Given the description of an element on the screen output the (x, y) to click on. 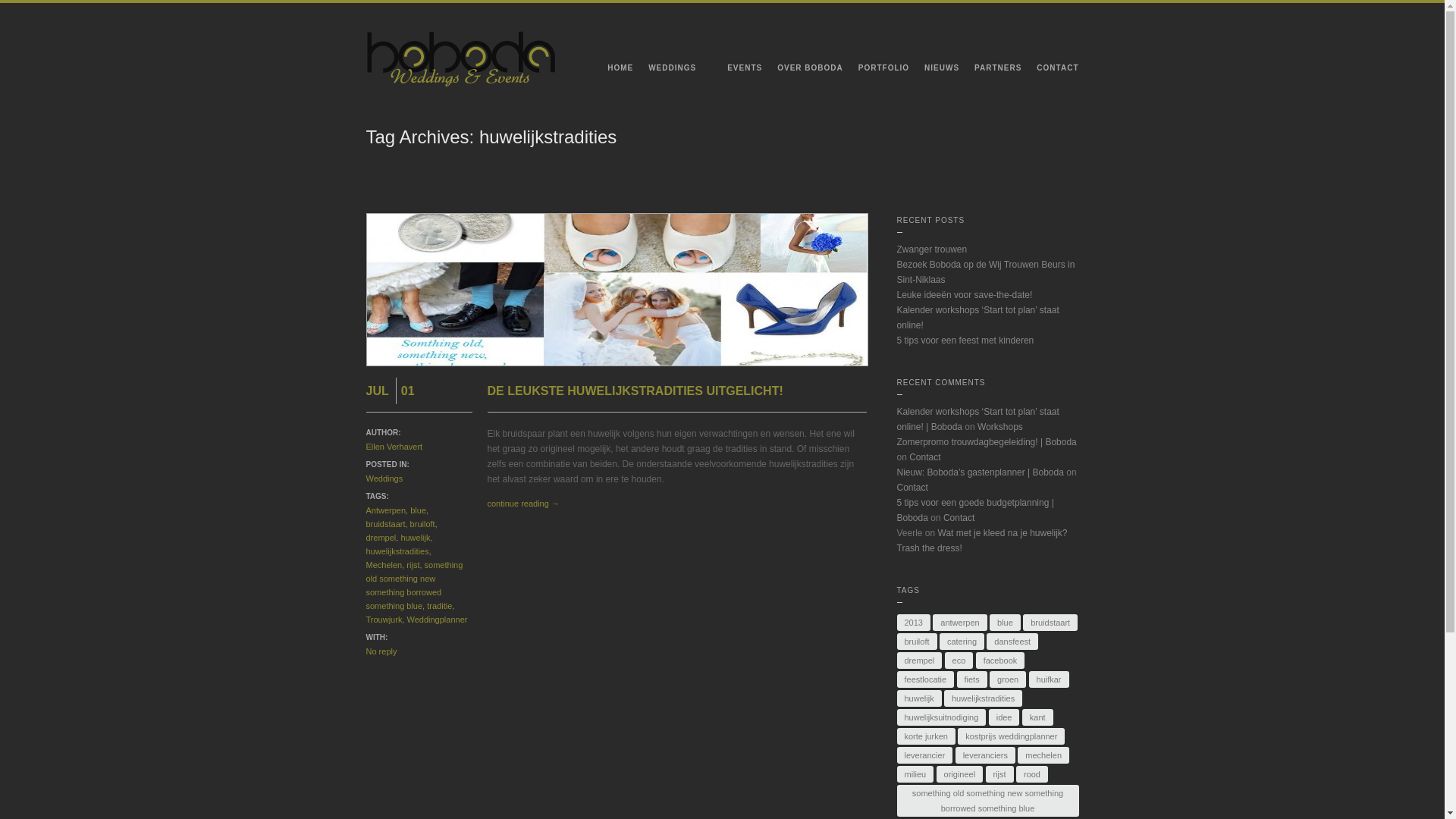
traditie Element type: text (438, 605)
kant Element type: text (1037, 717)
milieu Element type: text (914, 773)
WEDDINGS Element type: text (672, 70)
Zomerpromo trouwdagbegeleiding! | Boboda Element type: text (986, 441)
Contact Element type: text (958, 517)
HOME Element type: text (612, 70)
eco Element type: text (958, 660)
Bezoek Boboda op de Wij Trouwen Beurs in Sint-Niklaas Element type: text (985, 272)
NIEUWS Element type: text (934, 70)
huwelijkstradities Element type: text (983, 698)
Zwanger trouwen Element type: text (931, 249)
Weddingplanner Element type: text (437, 619)
Antwerpen Element type: text (385, 509)
bruidstaart Element type: text (384, 523)
Mechelen Element type: text (383, 564)
bruidstaart Element type: text (1049, 622)
5 tips voor een feest met kinderen Element type: text (964, 340)
facebook Element type: text (1000, 660)
blue Element type: text (418, 509)
huifkar Element type: text (1049, 679)
feestlocatie Element type: text (924, 679)
leverancier Element type: text (924, 754)
mechelen Element type: text (1043, 754)
leveranciers Element type: text (985, 754)
blue Element type: text (1004, 622)
idee Element type: text (1003, 717)
rijst Element type: text (412, 564)
EVENTS Element type: text (737, 70)
Ellen Verhavert Element type: text (393, 446)
drempel Element type: text (380, 537)
Contact Element type: text (924, 456)
dansfeest Element type: text (1012, 641)
Contact Element type: text (911, 487)
fiets Element type: text (972, 679)
Workshops Element type: text (999, 426)
Trouwjurk Element type: text (383, 619)
No reply Element type: text (380, 650)
rijst Element type: text (999, 773)
OVER BOBODA Element type: text (802, 70)
bruiloft Element type: text (422, 523)
bruiloft Element type: text (916, 641)
rood Element type: text (1032, 773)
huwelijkstradities Element type: text (396, 550)
kostprijs weddingplanner Element type: text (1010, 736)
Wat met je kleed na je huwelijk? Trash the dress! Element type: text (981, 540)
2013 Element type: text (912, 622)
korte jurken Element type: text (925, 736)
groen Element type: text (1007, 679)
DE LEUKSTE HUWELIJKSTRADITIES UITGELICHT! Element type: text (634, 390)
catering Element type: text (961, 641)
origineel Element type: text (959, 773)
CONTACT Element type: text (1049, 70)
huwelijk Element type: text (414, 537)
PARTNERS Element type: text (990, 70)
antwerpen Element type: text (959, 622)
huwelijksuitnodiging Element type: text (940, 717)
drempel Element type: text (918, 660)
5 tips voor een goede budgetplanning | Boboda Element type: text (974, 510)
Weddings Element type: text (383, 478)
huwelijk Element type: text (918, 698)
PORTFOLIO Element type: text (876, 70)
